Given the description of an element on the screen output the (x, y) to click on. 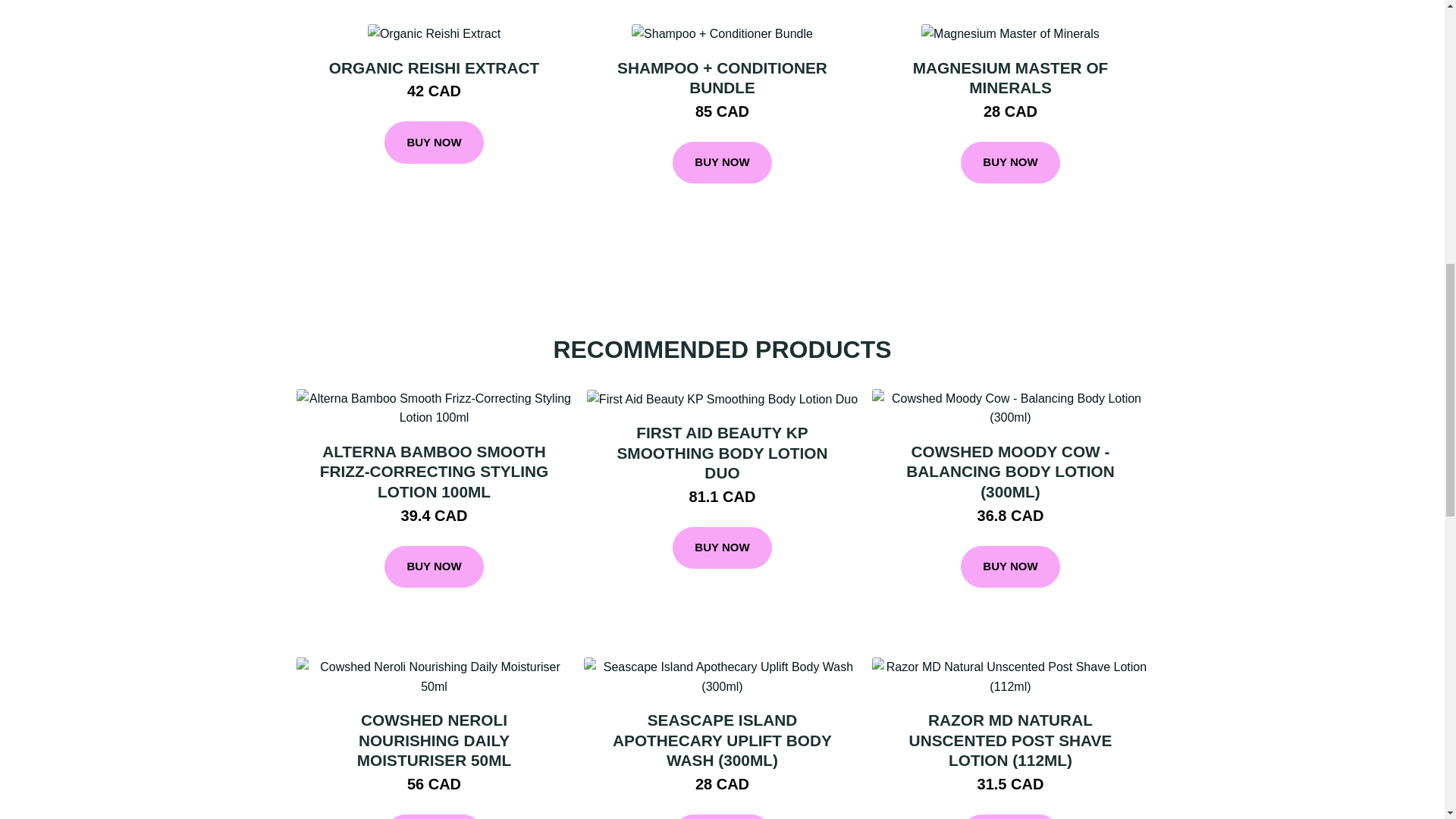
BUY NOW (433, 816)
MAGNESIUM MASTER OF MINERALS (1010, 77)
BUY NOW (433, 567)
BUY NOW (721, 548)
COWSHED NEROLI NOURISHING DAILY MOISTURISER 50ML (433, 740)
FIRST AID BEAUTY KP SMOOTHING BODY LOTION DUO (721, 452)
BUY NOW (721, 816)
BUY NOW (433, 142)
BUY NOW (1009, 162)
ALTERNA BAMBOO SMOOTH FRIZZ-CORRECTING STYLING LOTION 100ML (434, 471)
BUY NOW (1009, 567)
ORGANIC REISHI EXTRACT (433, 67)
BUY NOW (721, 162)
